Given the description of an element on the screen output the (x, y) to click on. 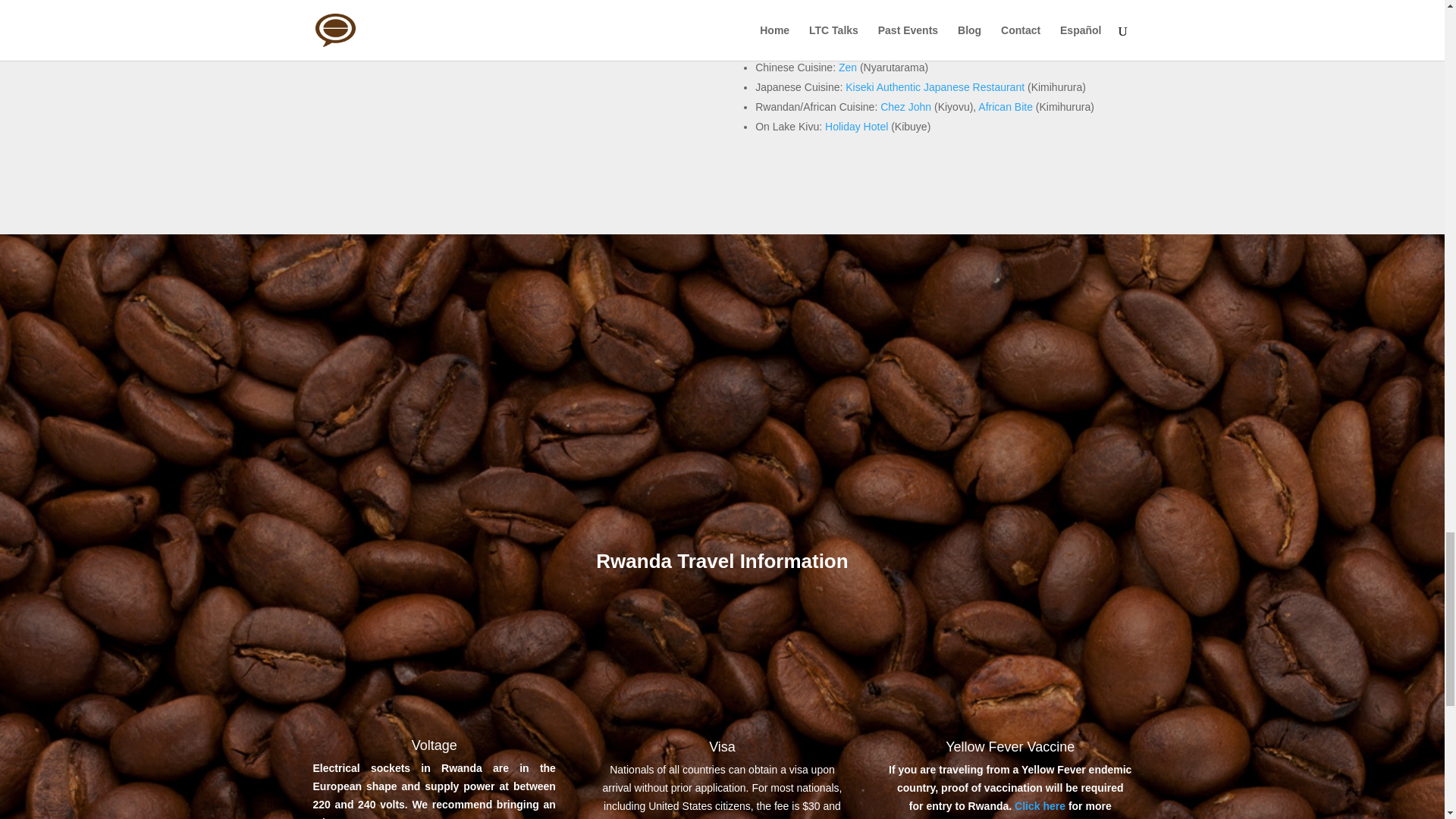
Kiseki Authentic Japanese Restaurant (935, 87)
The Hut (921, 8)
Zen (847, 67)
African Bite (1005, 106)
Chez John (905, 106)
Click here (1039, 806)
Holiday Hotel (856, 126)
